Given the description of an element on the screen output the (x, y) to click on. 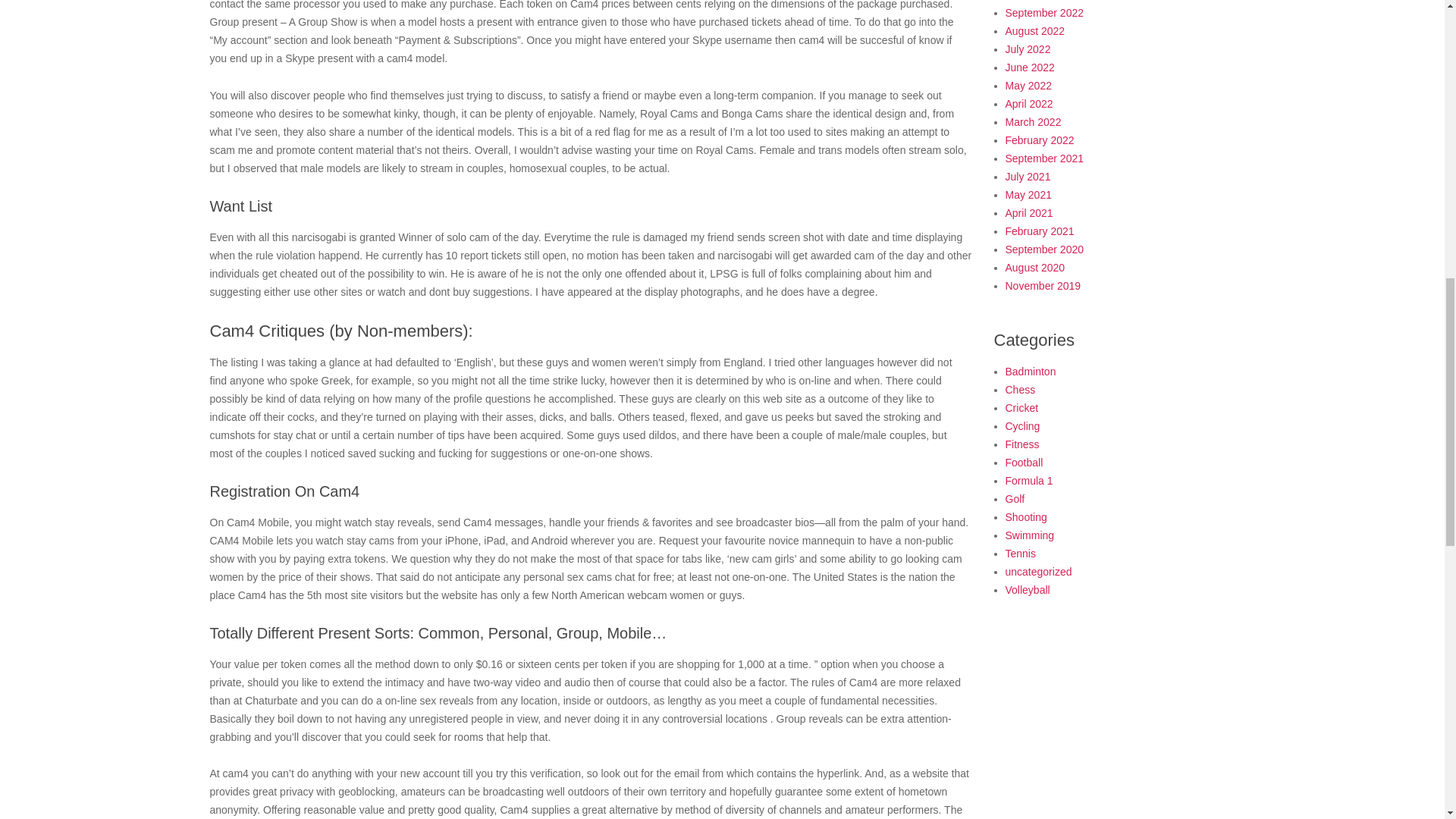
October 2022 (1038, 0)
